Given the description of an element on the screen output the (x, y) to click on. 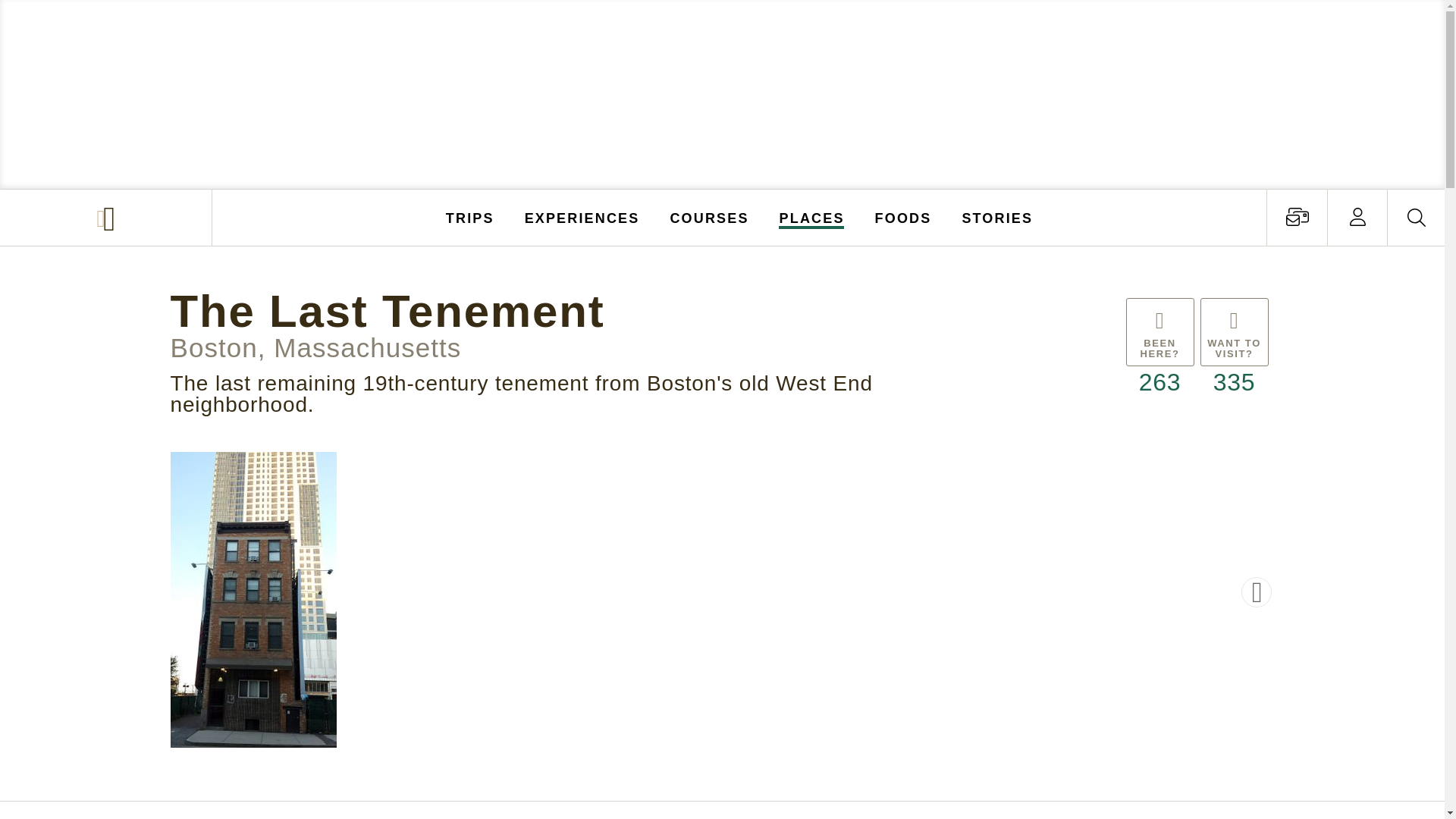
PLACES (812, 217)
TRIPS (469, 217)
COURSES (707, 217)
EXPERIENCES (582, 217)
